Given the description of an element on the screen output the (x, y) to click on. 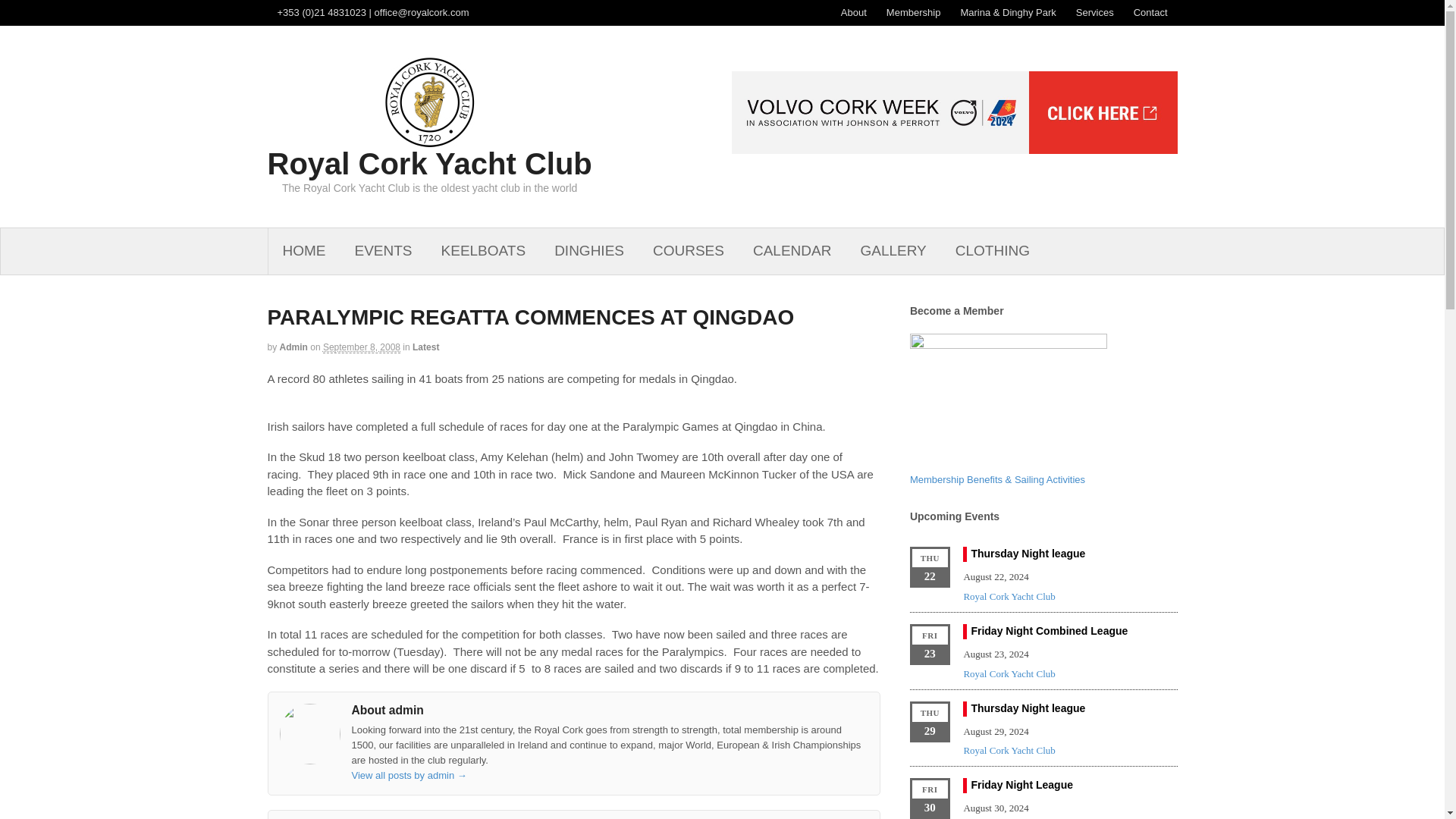
Posts by admin (293, 347)
Contact (1150, 12)
View all items in Latest (425, 347)
EVENTS (382, 251)
Royal Cork Yacht Club (428, 163)
Membership (913, 12)
About (853, 12)
Services (1094, 12)
HOME (303, 251)
